Given the description of an element on the screen output the (x, y) to click on. 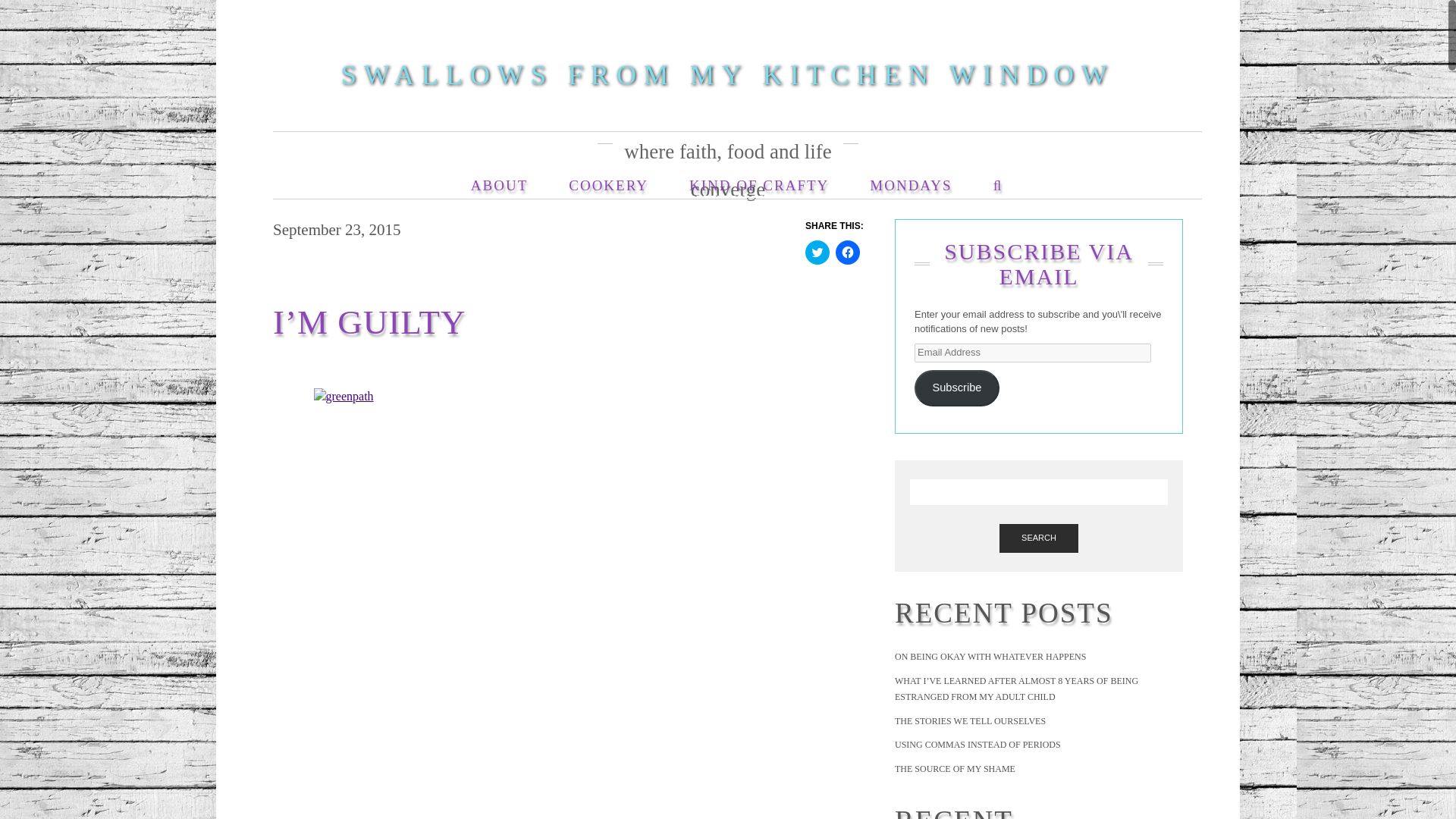
MONDAYS (910, 177)
SWALLOWS FROM MY KITCHEN WINDOW (727, 74)
Click to share on Facebook (847, 252)
KIND OF CRAFTY (758, 177)
Click to share on Twitter (817, 252)
ABOUT (498, 177)
COOKERY (608, 177)
